Given the description of an element on the screen output the (x, y) to click on. 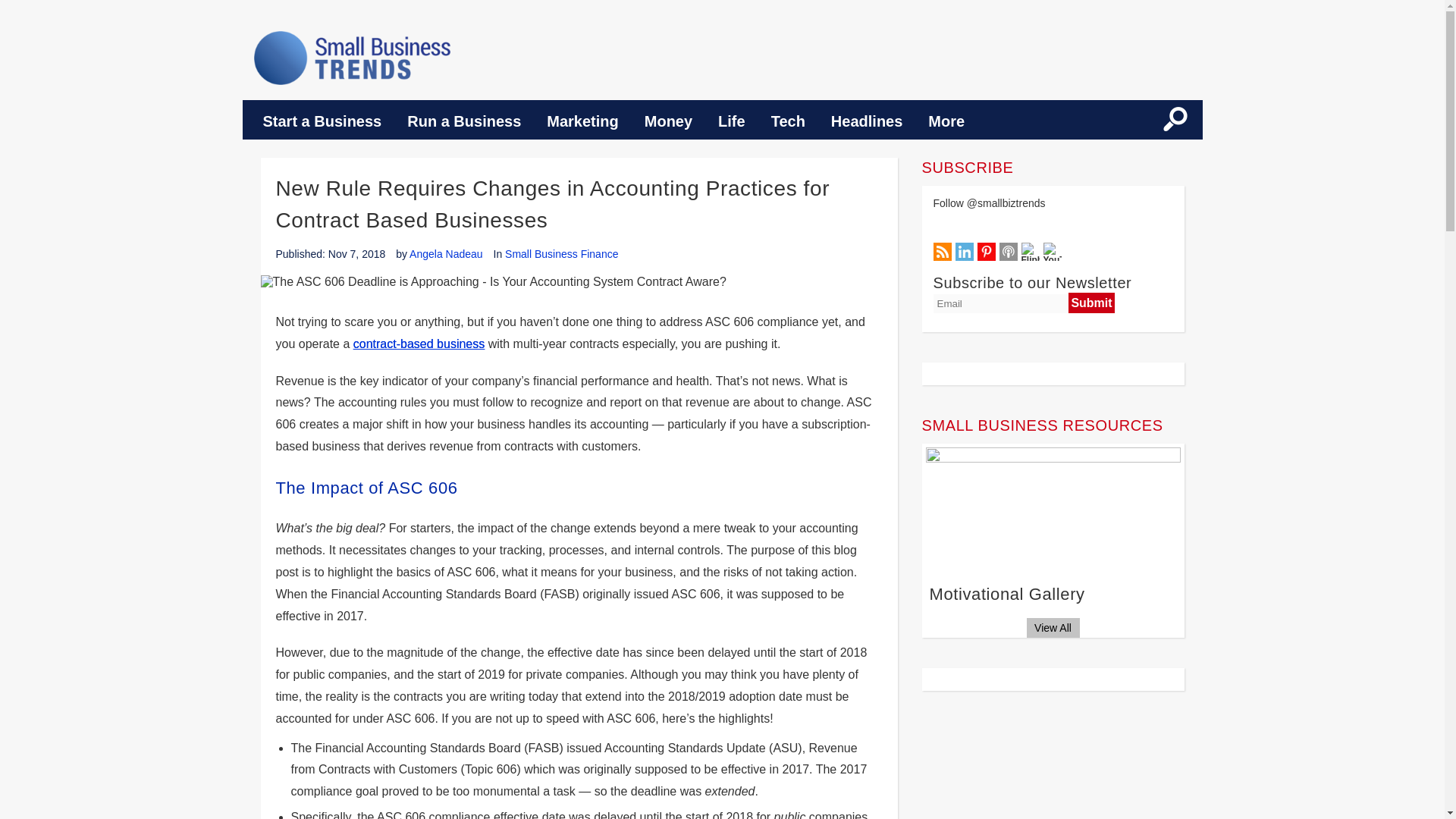
Marketing (582, 121)
Life (731, 121)
Start a Business (322, 121)
Posts by Angela Nadeau (446, 254)
Headlines (866, 121)
Small Business Trends (351, 58)
Small Business Trends (351, 58)
Run a Business (464, 121)
Money (667, 121)
Tech (788, 121)
